Given the description of an element on the screen output the (x, y) to click on. 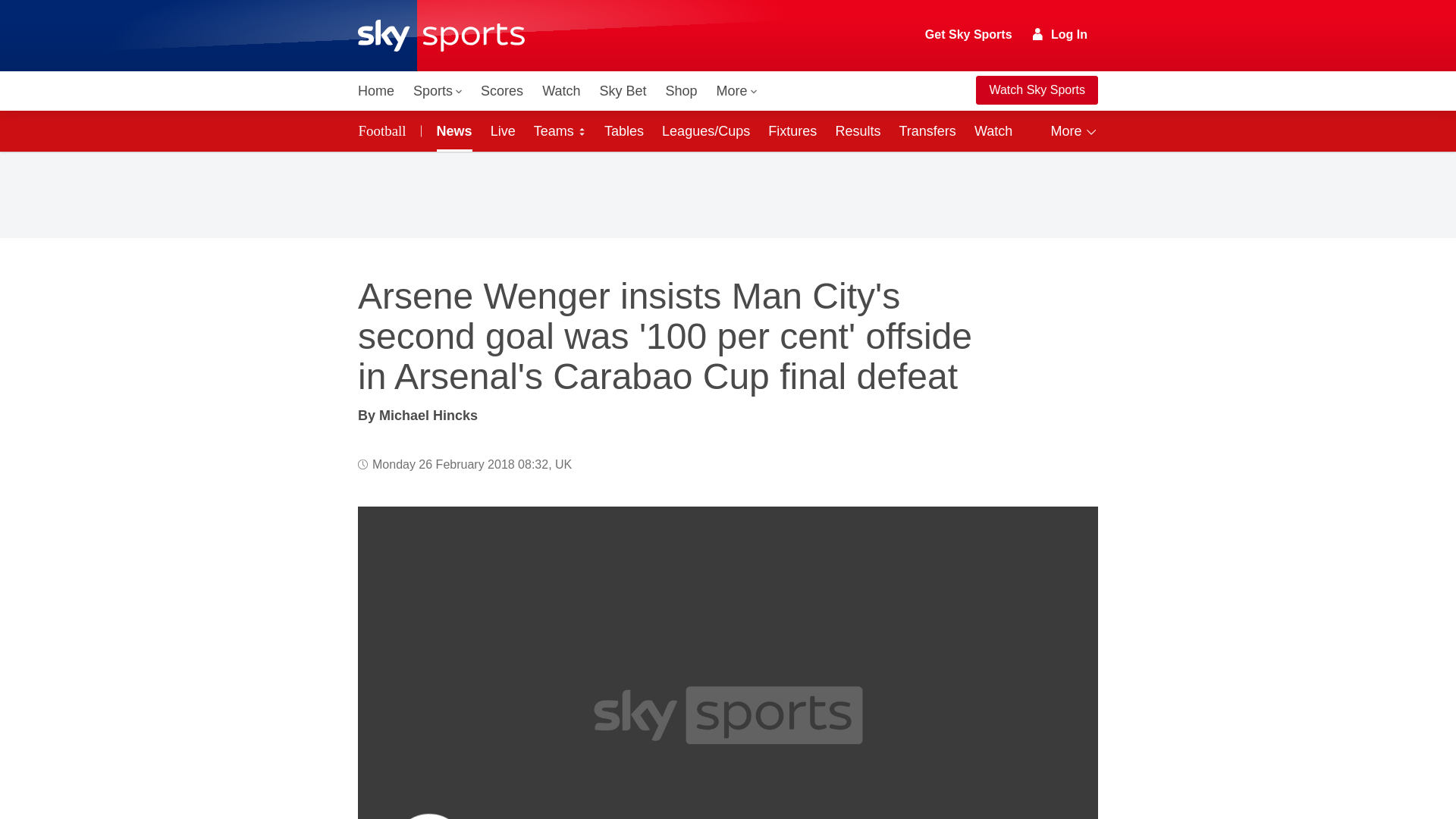
News (451, 130)
Watch Sky Sports (1036, 90)
More (736, 91)
Log In (1060, 33)
Football (385, 130)
Shop (681, 91)
Watch (561, 91)
Sky Bet (622, 91)
Scores (502, 91)
Home (375, 91)
